Given the description of an element on the screen output the (x, y) to click on. 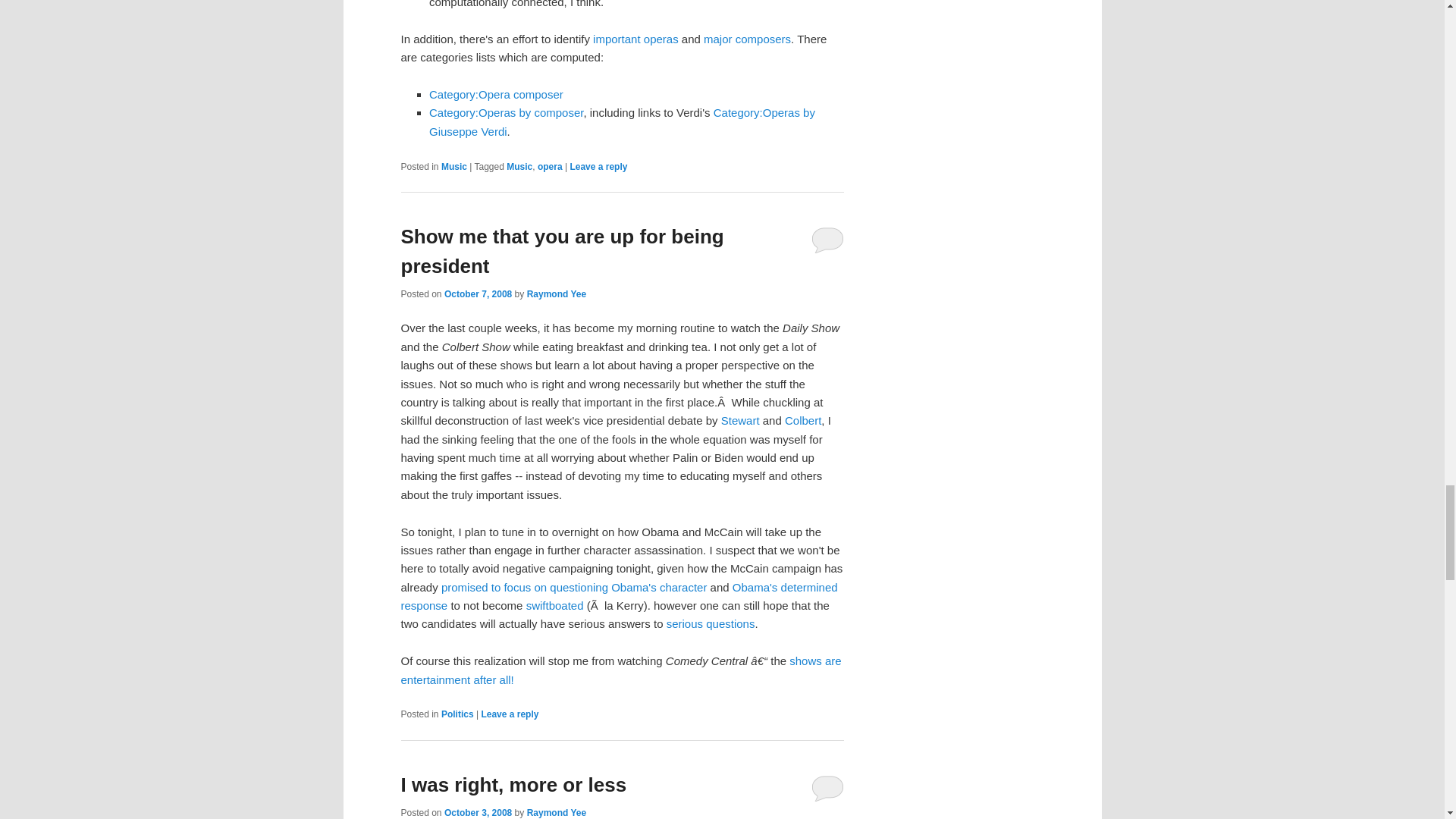
View all posts by Raymond Yee (556, 294)
7:19 am (478, 294)
View all posts by Raymond Yee (556, 812)
7:37 pm (478, 812)
